Given the description of an element on the screen output the (x, y) to click on. 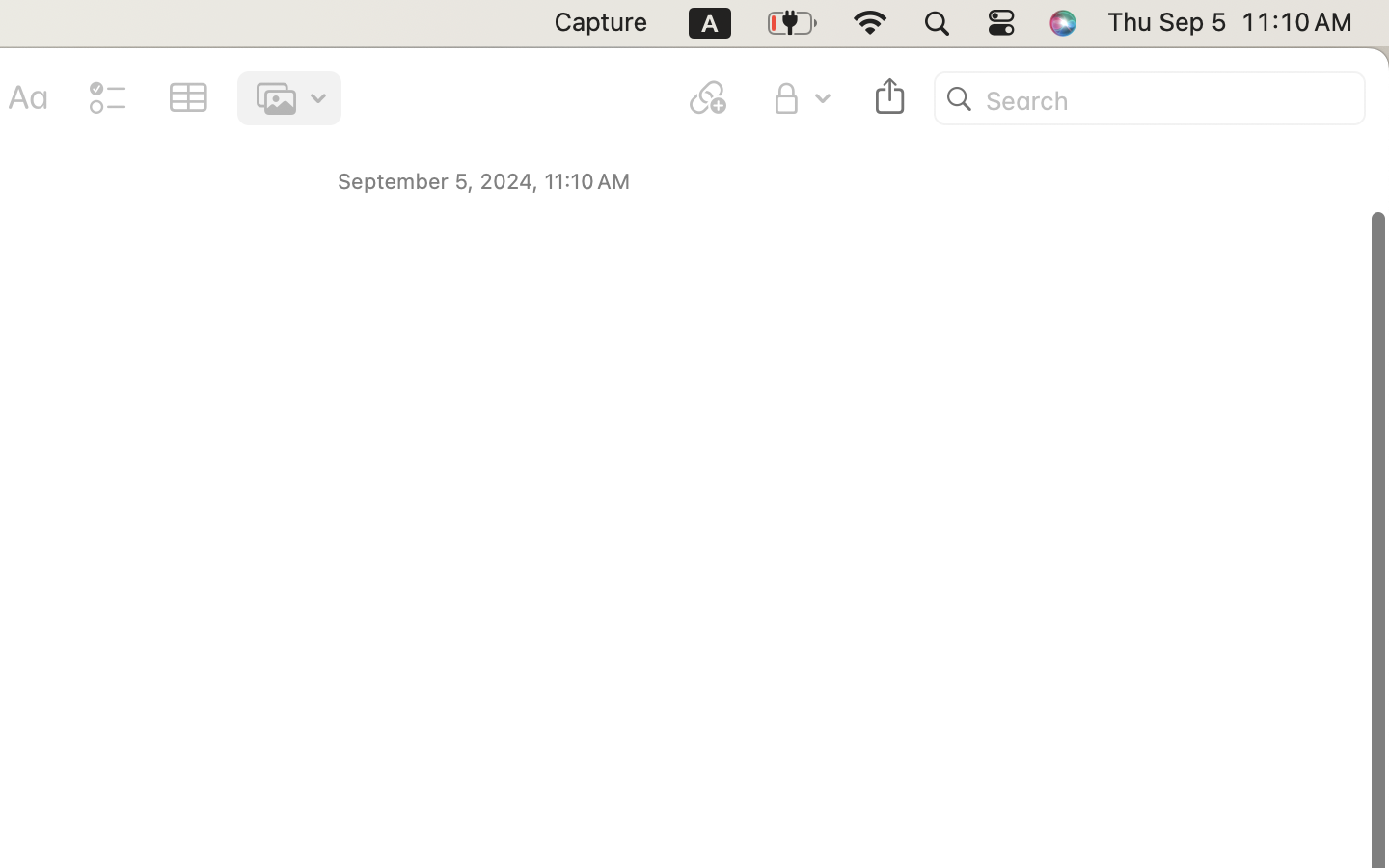
Suggested Searches Element type: AXStaticText (740, 327)
Notes with Attachments Element type: AXStaticText (768, 624)
Shared Notes Element type: AXStaticText (768, 369)
